Given the description of an element on the screen output the (x, y) to click on. 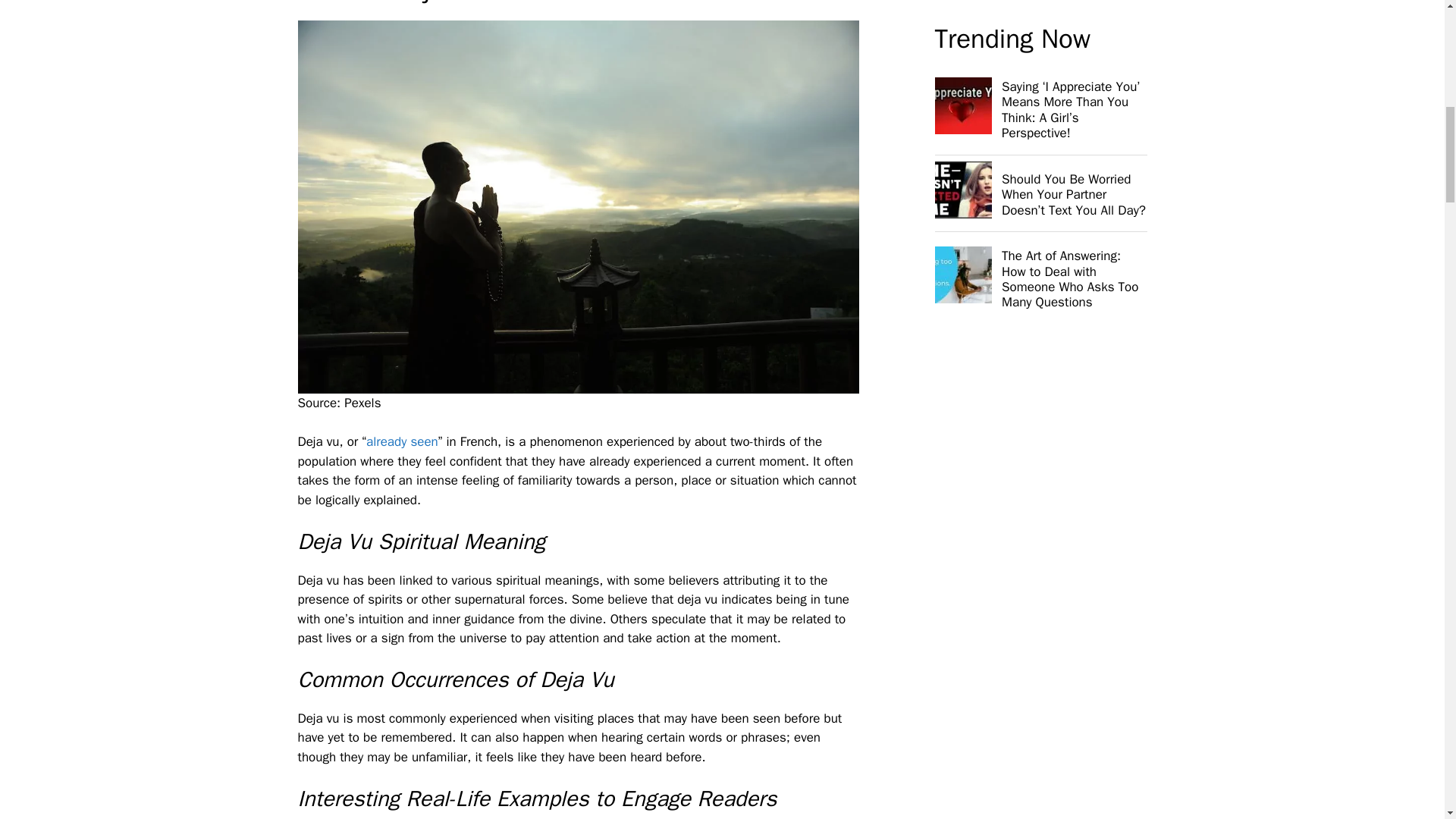
already seen (402, 441)
